Given the description of an element on the screen output the (x, y) to click on. 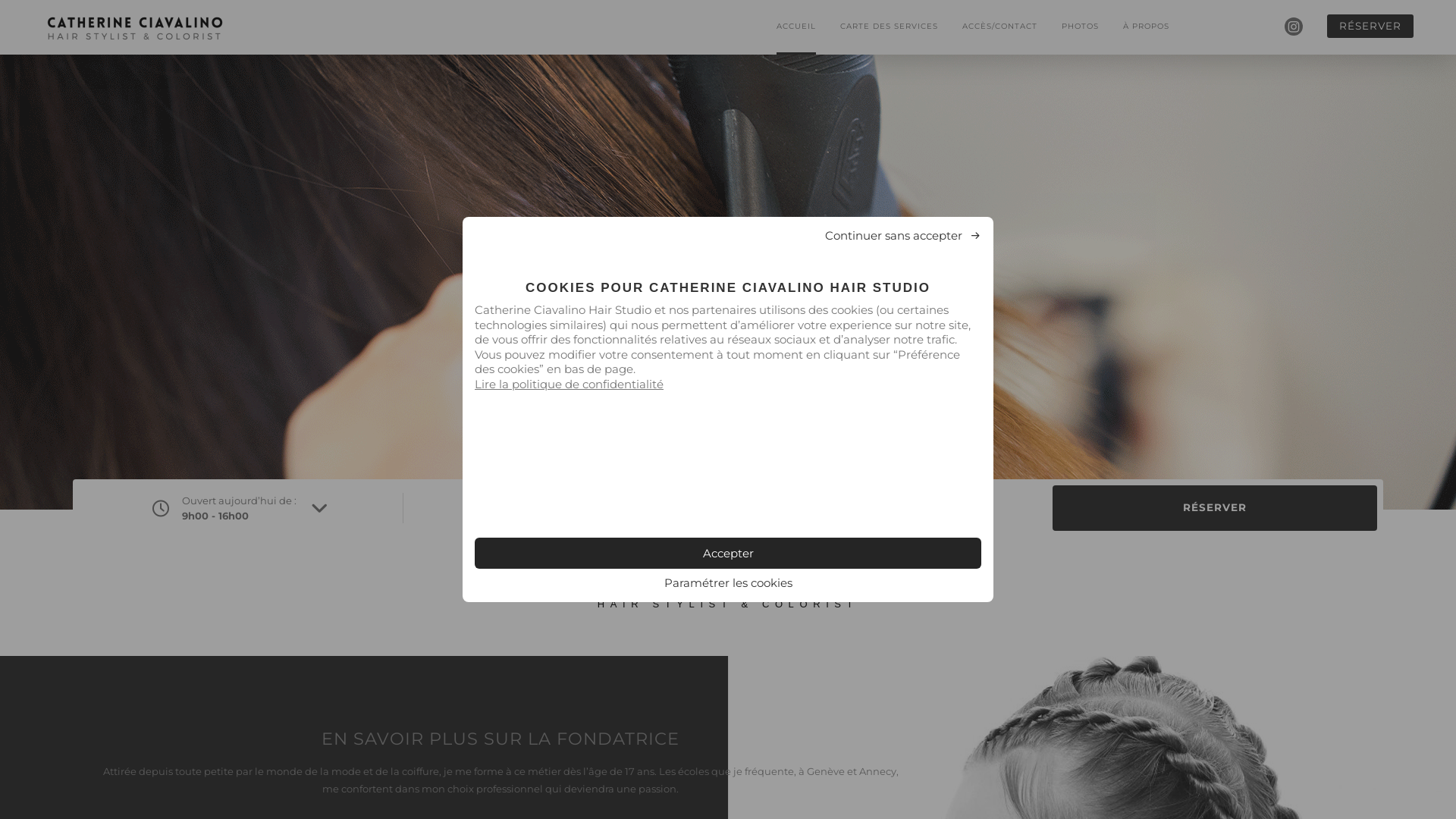
Accepter Element type: text (727, 552)
PHOTOS Element type: text (1079, 26)
Continuer sans accepter Element type: text (903, 235)
076 679 51 07 Element type: text (890, 507)
ACCUEIL Element type: text (795, 26)
CARTE DES SERVICES Element type: text (889, 26)
